Given the description of an element on the screen output the (x, y) to click on. 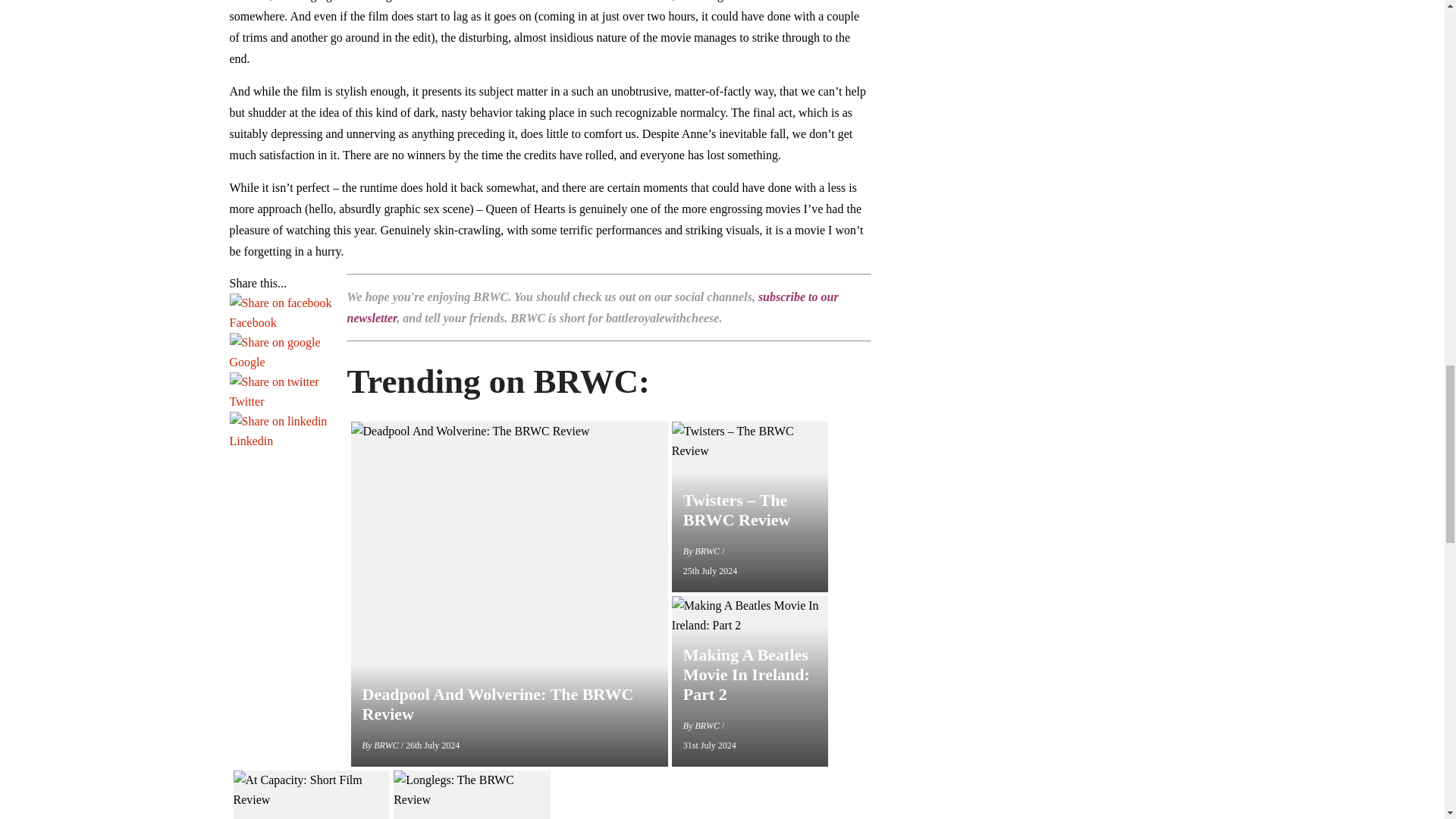
facebook (279, 302)
Facebook (279, 322)
Linkedin (279, 441)
Twitter (279, 401)
Google (279, 362)
linkedin (277, 421)
twitter (273, 382)
google (274, 342)
